Given the description of an element on the screen output the (x, y) to click on. 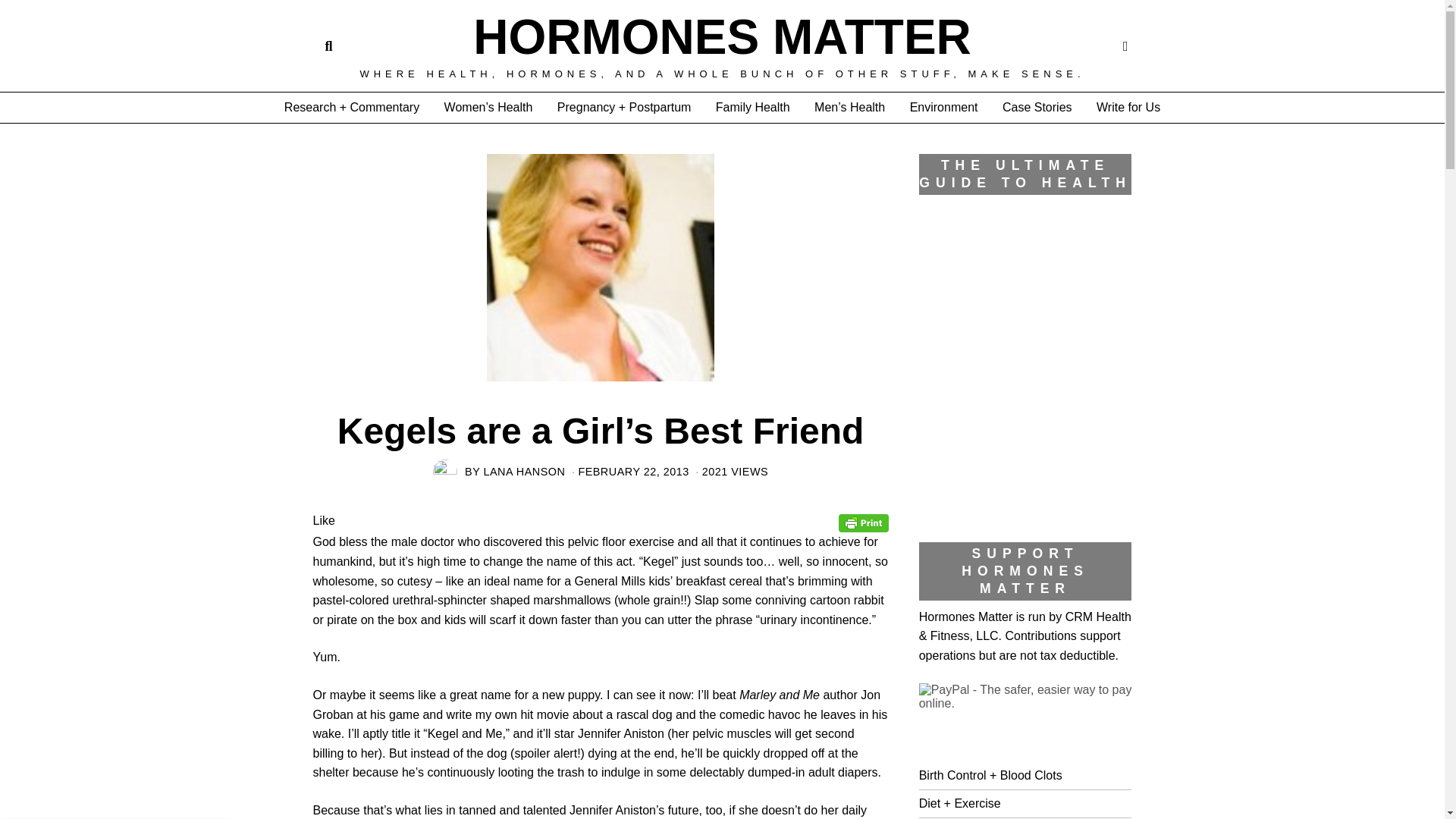
LANA HANSON (524, 471)
HORMONES MATTER (722, 36)
Family Health (752, 107)
Write for Us (1128, 107)
Environment (943, 107)
Case Stories (1037, 107)
2021 views (730, 471)
